Given the description of an element on the screen output the (x, y) to click on. 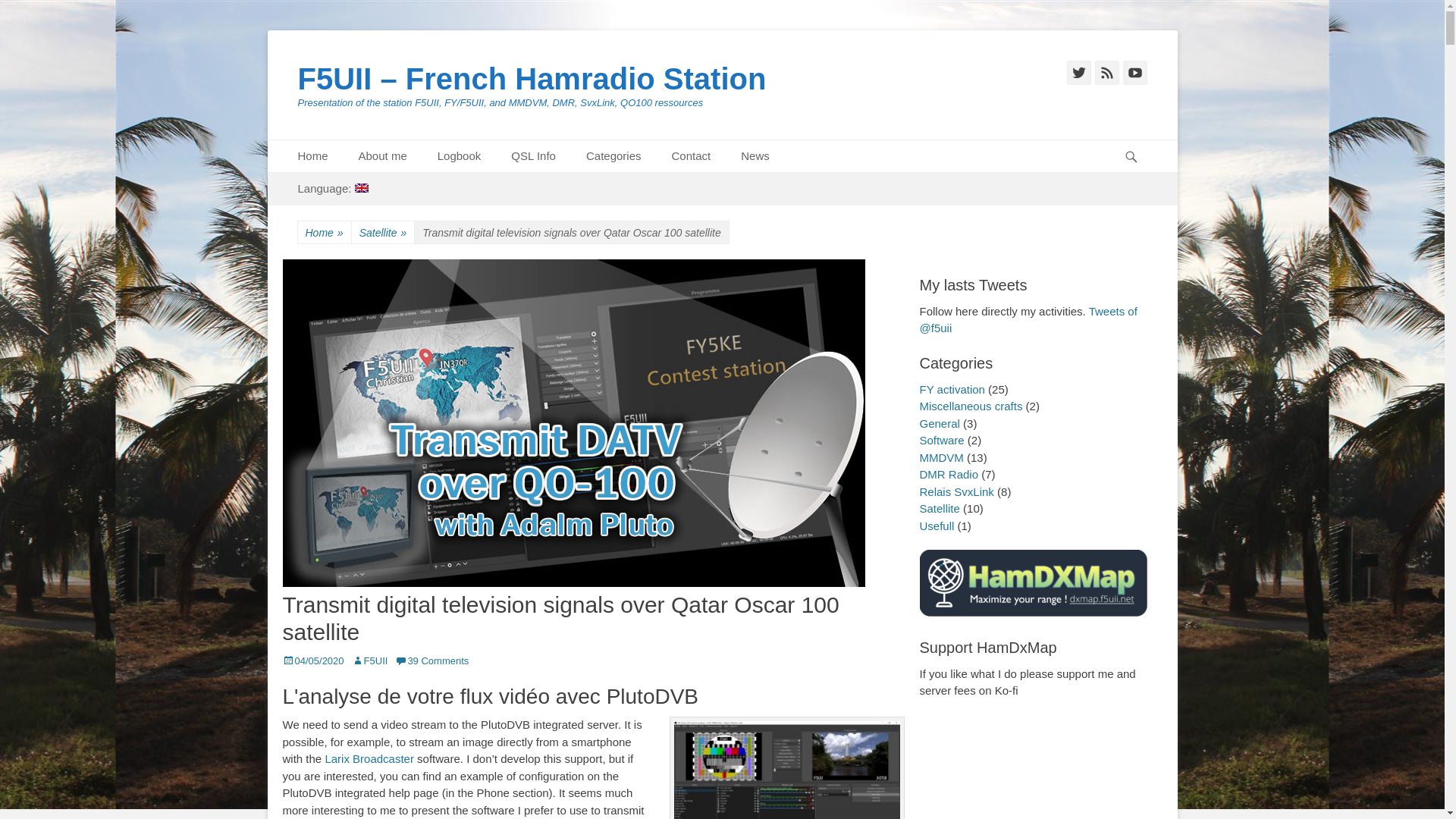
QSL Info (533, 156)
YouTube (1134, 72)
Twitter (1077, 72)
Feed (1106, 72)
39 Comments (431, 660)
English (332, 188)
Language:  (332, 188)
YouTube (1134, 72)
Logbook (459, 156)
